Given the description of an element on the screen output the (x, y) to click on. 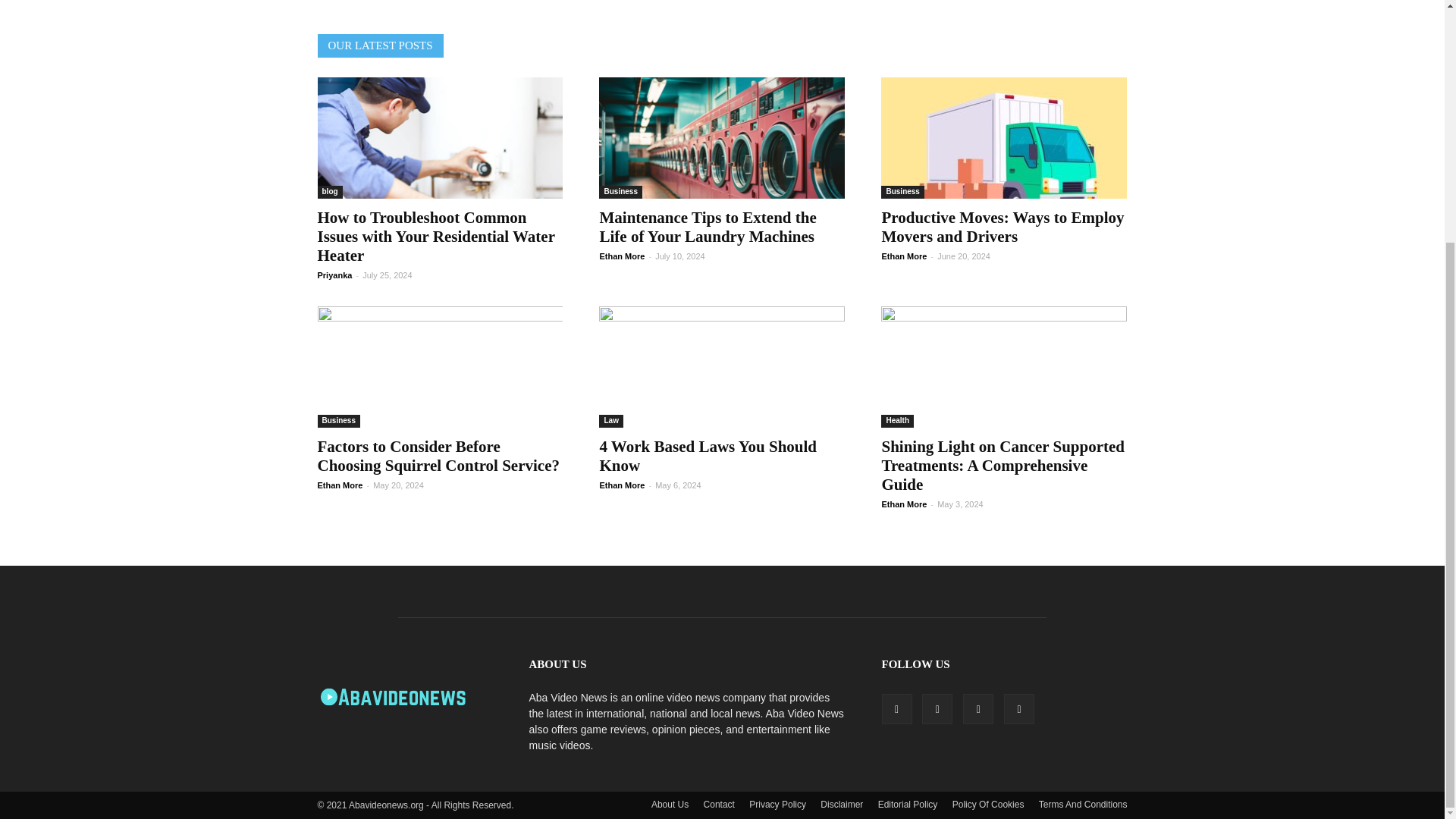
Productive Moves: Ways to Employ Movers and Drivers (1003, 137)
Productive Moves: Ways to Employ Movers and Drivers (1002, 226)
Maintenance Tips to Extend the Life of Your Laundry Machines (706, 226)
blog (329, 192)
Maintenance Tips to Extend the Life of Your Laundry Machines (721, 137)
